Given the description of an element on the screen output the (x, y) to click on. 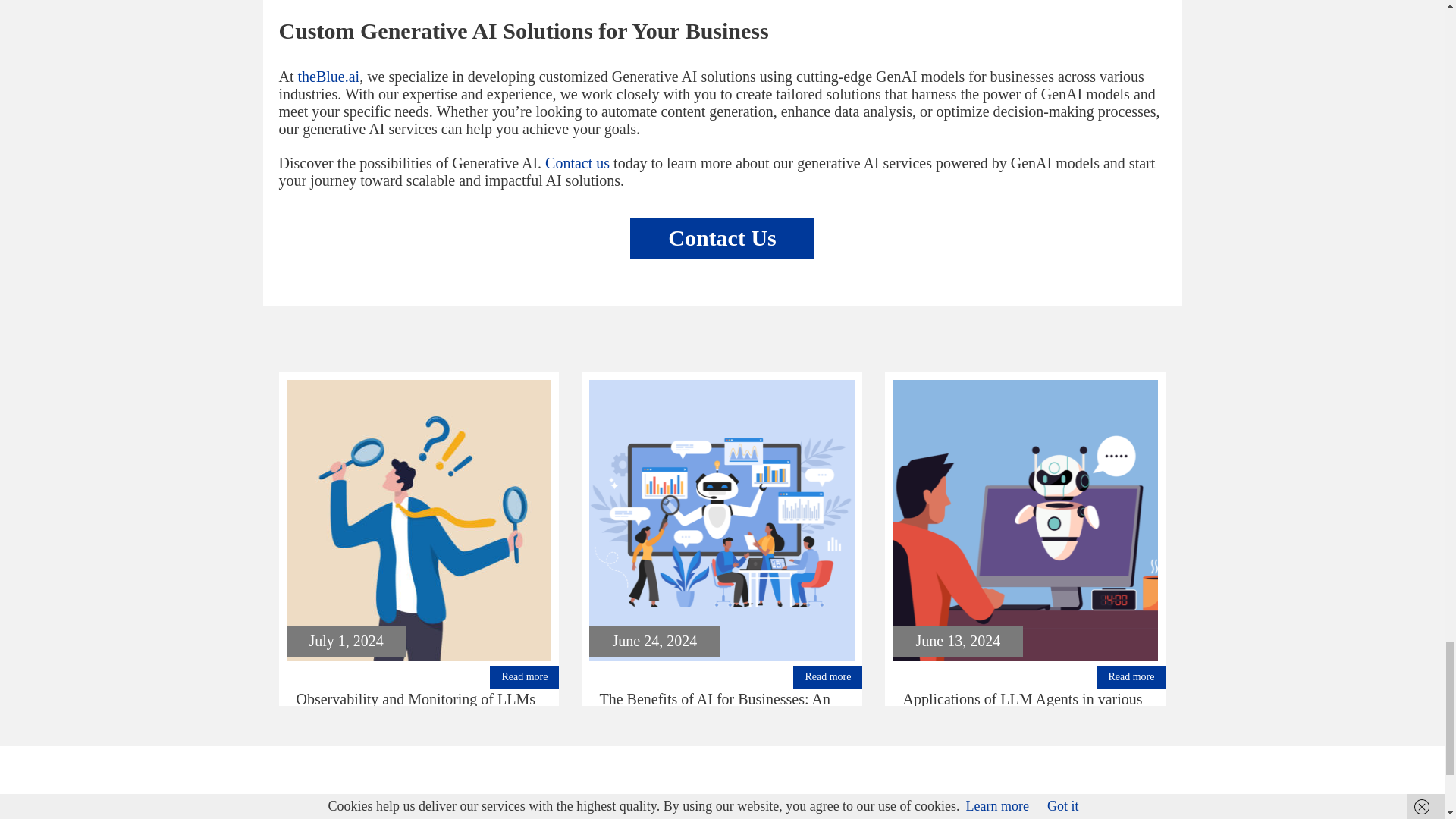
Read more (1131, 677)
The Benefits of AI for Businesses: An Overview (654, 640)
Observability and Monitoring of LLMs (418, 520)
Applications of LLM Agents in various industries (1024, 520)
Contact us (577, 162)
Applications of LLM Agents in various industries (1021, 707)
The Benefits of AI for Businesses: An Overview (721, 520)
theBlue.ai (328, 76)
Observability and Monitoring of LLMs (415, 699)
Read more (524, 677)
Observability and Monitoring of LLMs (346, 640)
Applications of LLM Agents in various industries (957, 640)
Read more (827, 677)
Contact Us (721, 238)
The Benefits of AI for Businesses: An Overview (713, 707)
